Given the description of an element on the screen output the (x, y) to click on. 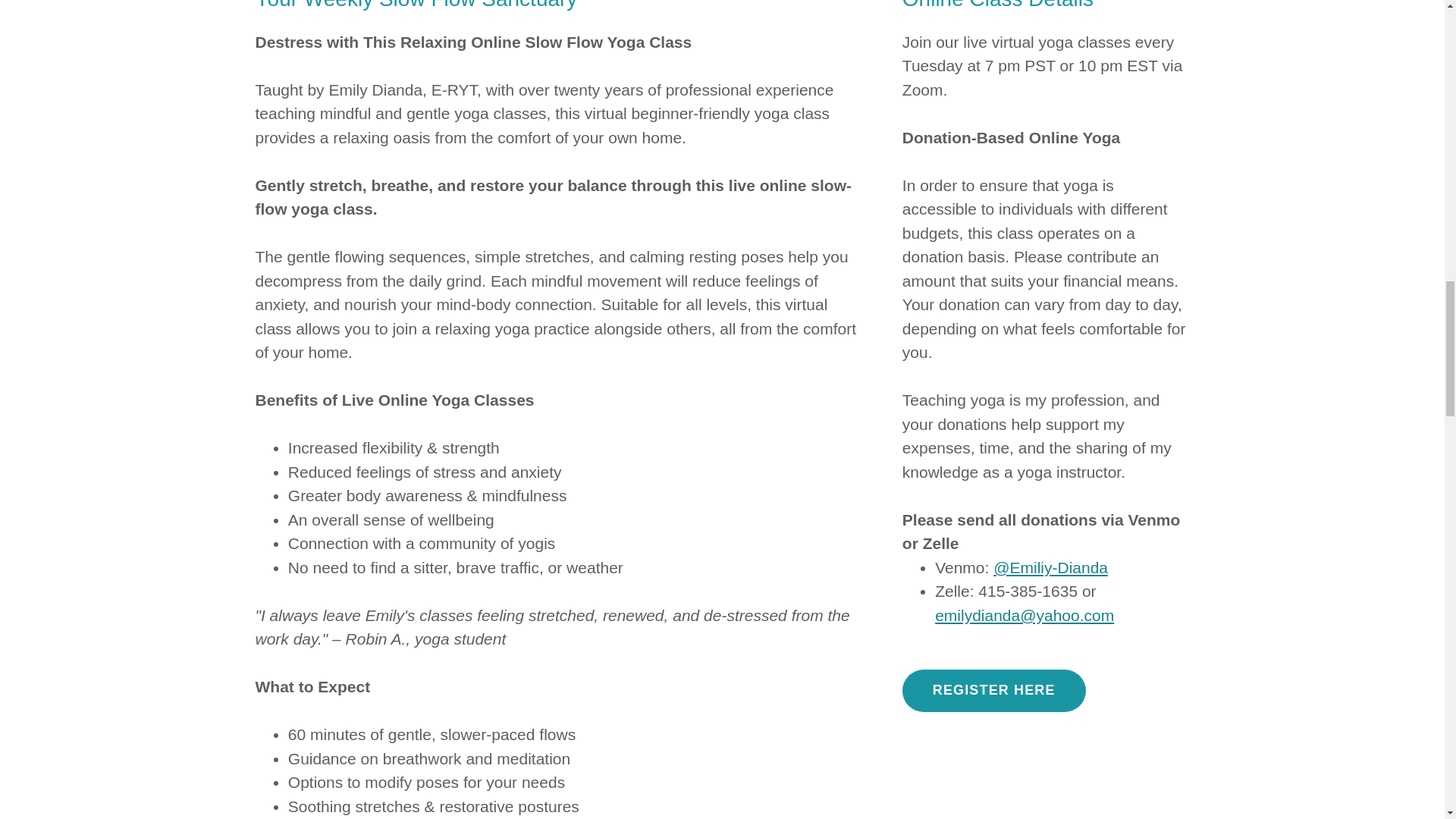
REGISTER HERE (994, 690)
